Given the description of an element on the screen output the (x, y) to click on. 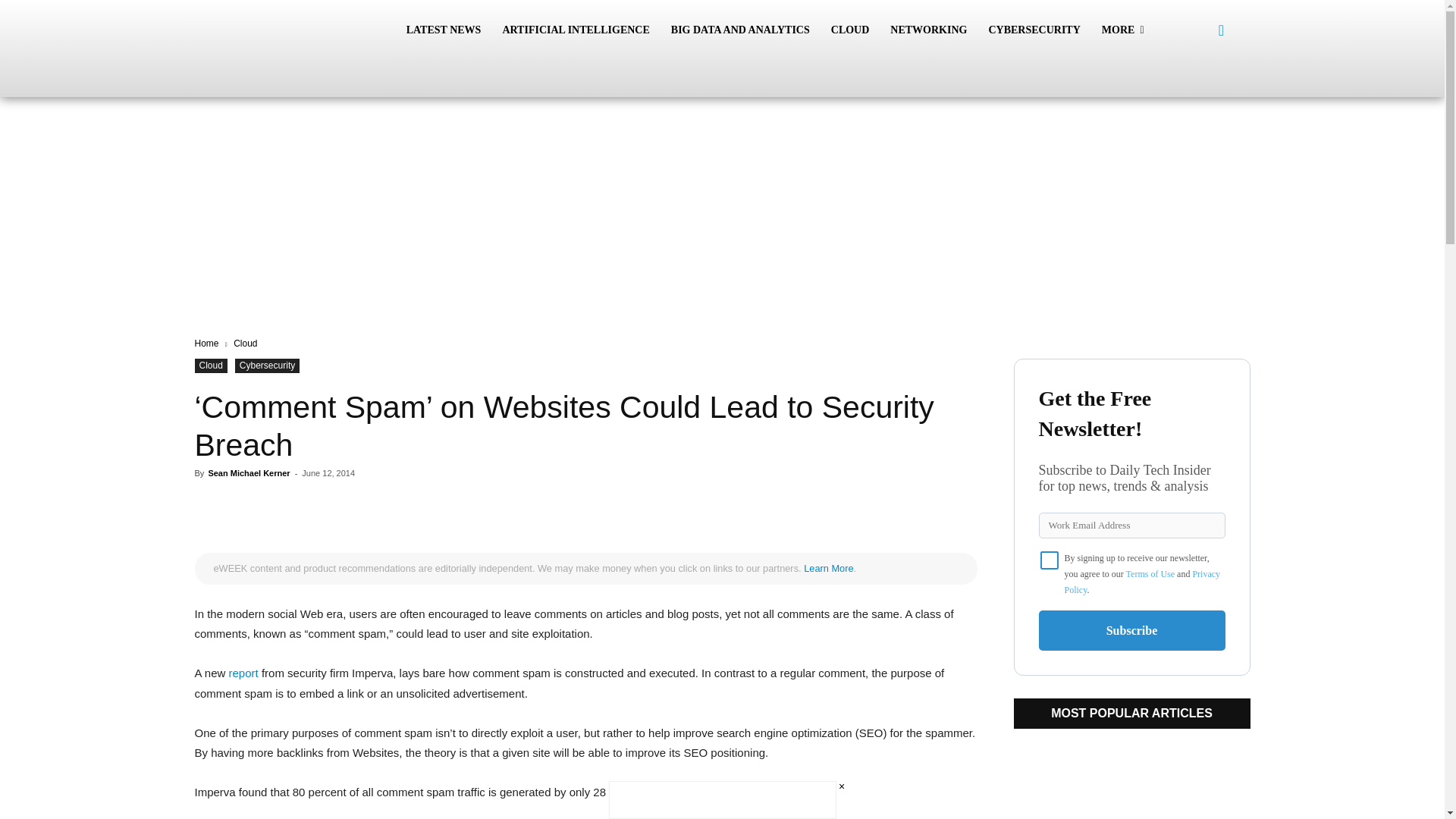
NETWORKING (927, 30)
on (1049, 560)
BIG DATA AND ANALYTICS (741, 30)
CYBERSECURITY (1033, 30)
ARTIFICIAL INTELLIGENCE (575, 30)
CLOUD (850, 30)
LATEST NEWS (444, 30)
